Given the description of an element on the screen output the (x, y) to click on. 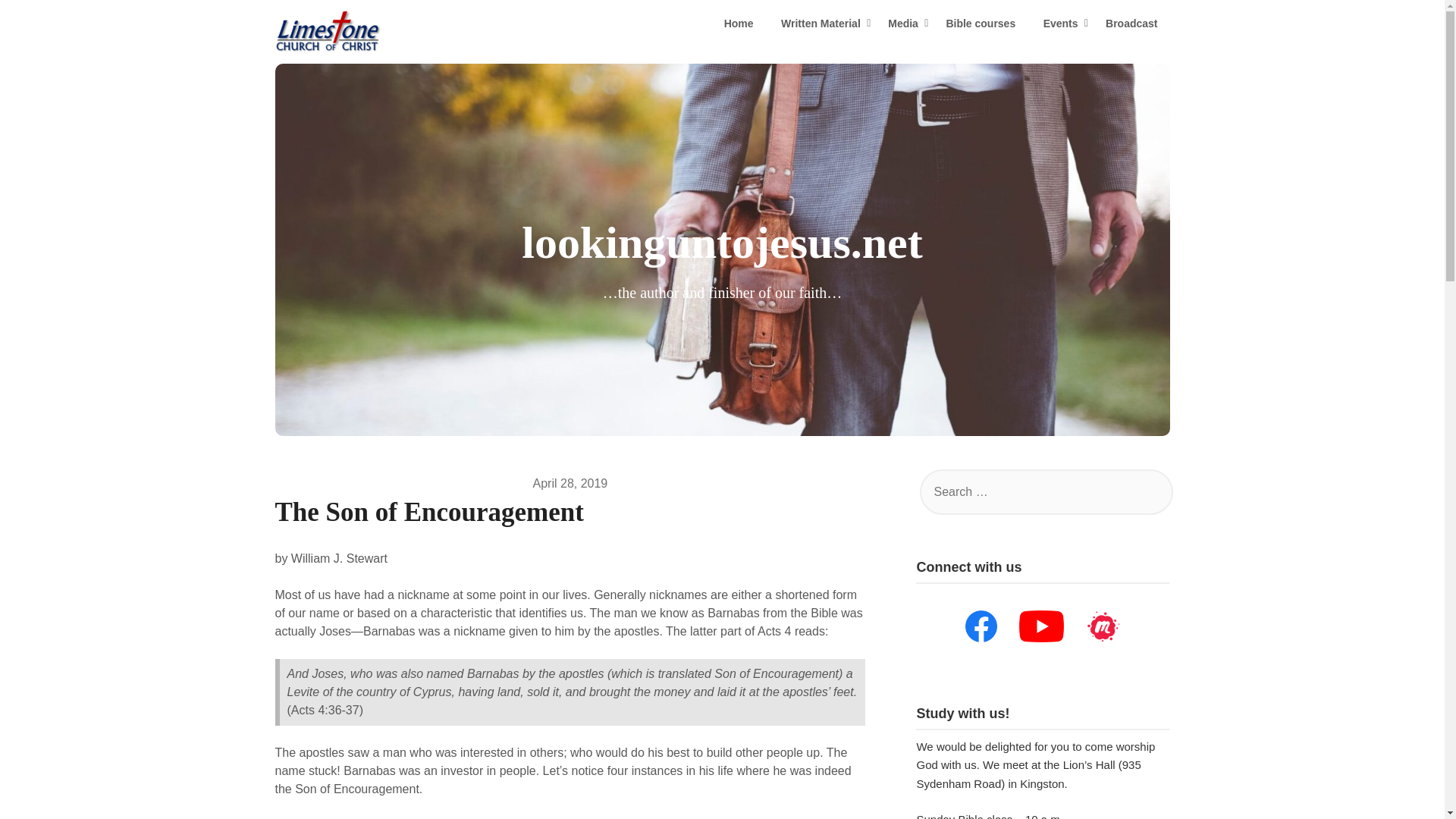
Written Material (820, 24)
Events (1060, 24)
April 28, 2019 (570, 482)
Home (738, 24)
Search (38, 22)
Broadcast (1131, 24)
Media (903, 24)
Bible courses (980, 24)
